Given the description of an element on the screen output the (x, y) to click on. 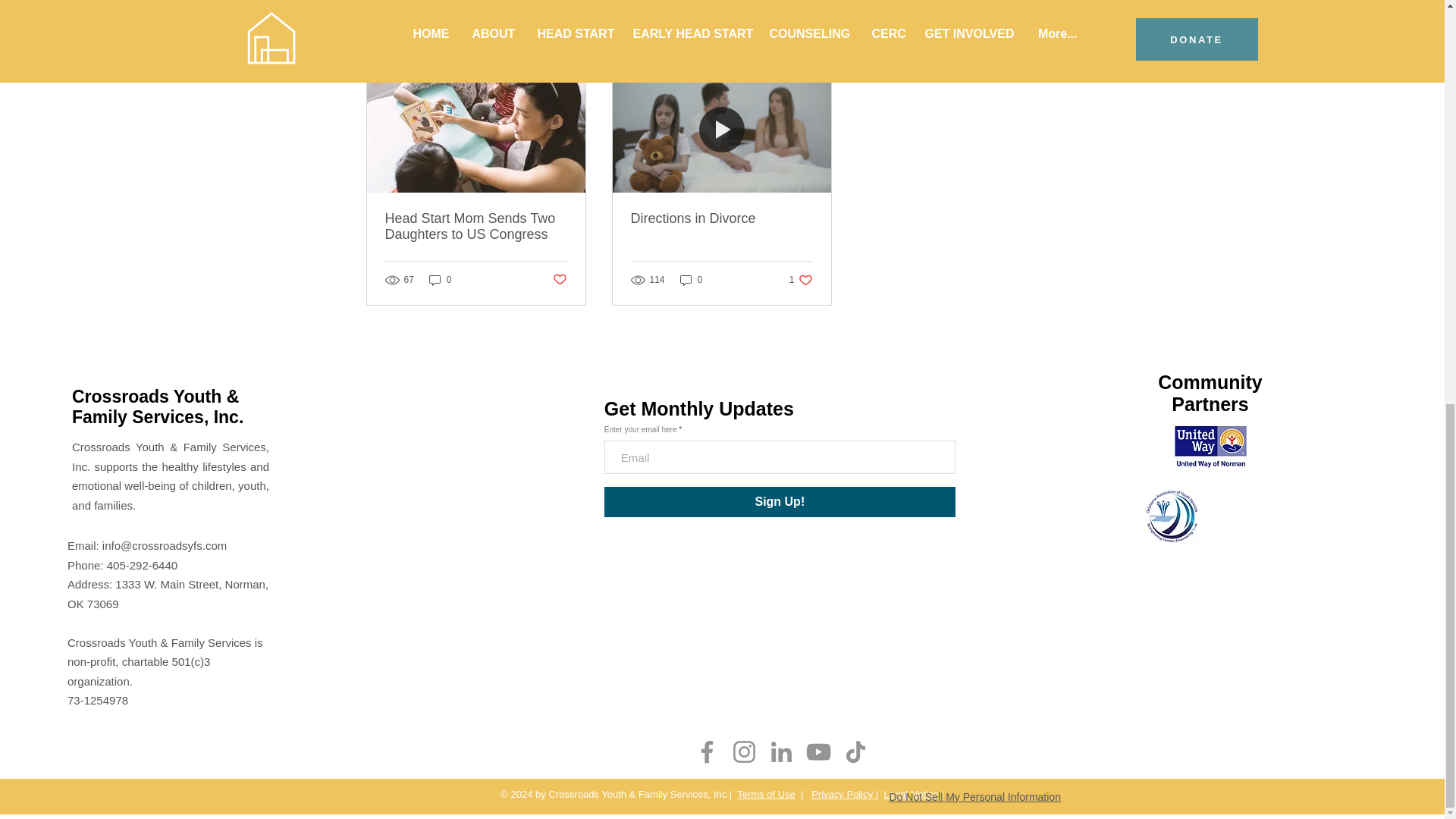
Post not marked as liked (558, 279)
Head Start Mom Sends Two Daughters to US Congress (476, 226)
See All (1061, 42)
0 (440, 278)
